Given the description of an element on the screen output the (x, y) to click on. 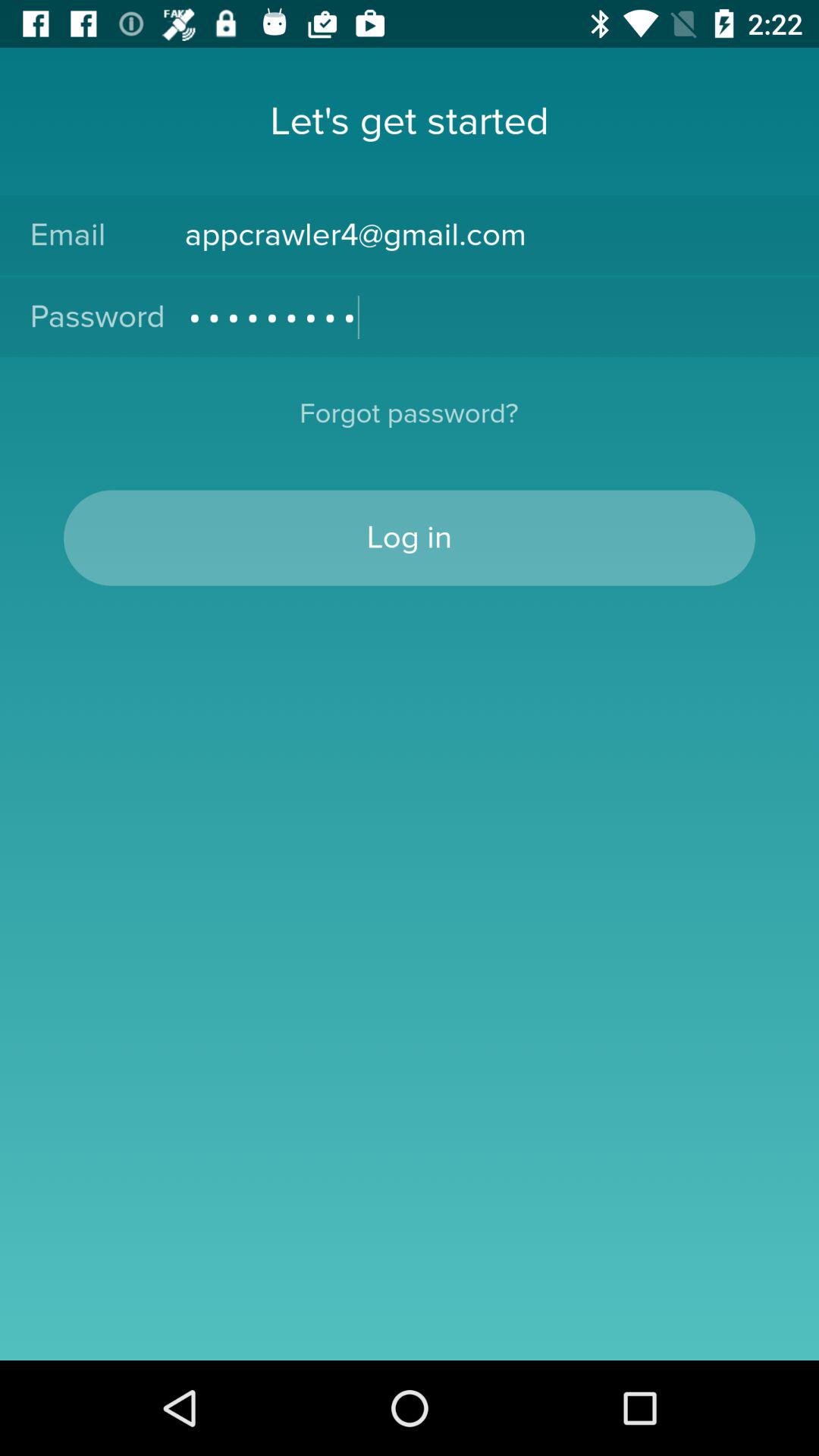
choose item next to the email (486, 235)
